Given the description of an element on the screen output the (x, y) to click on. 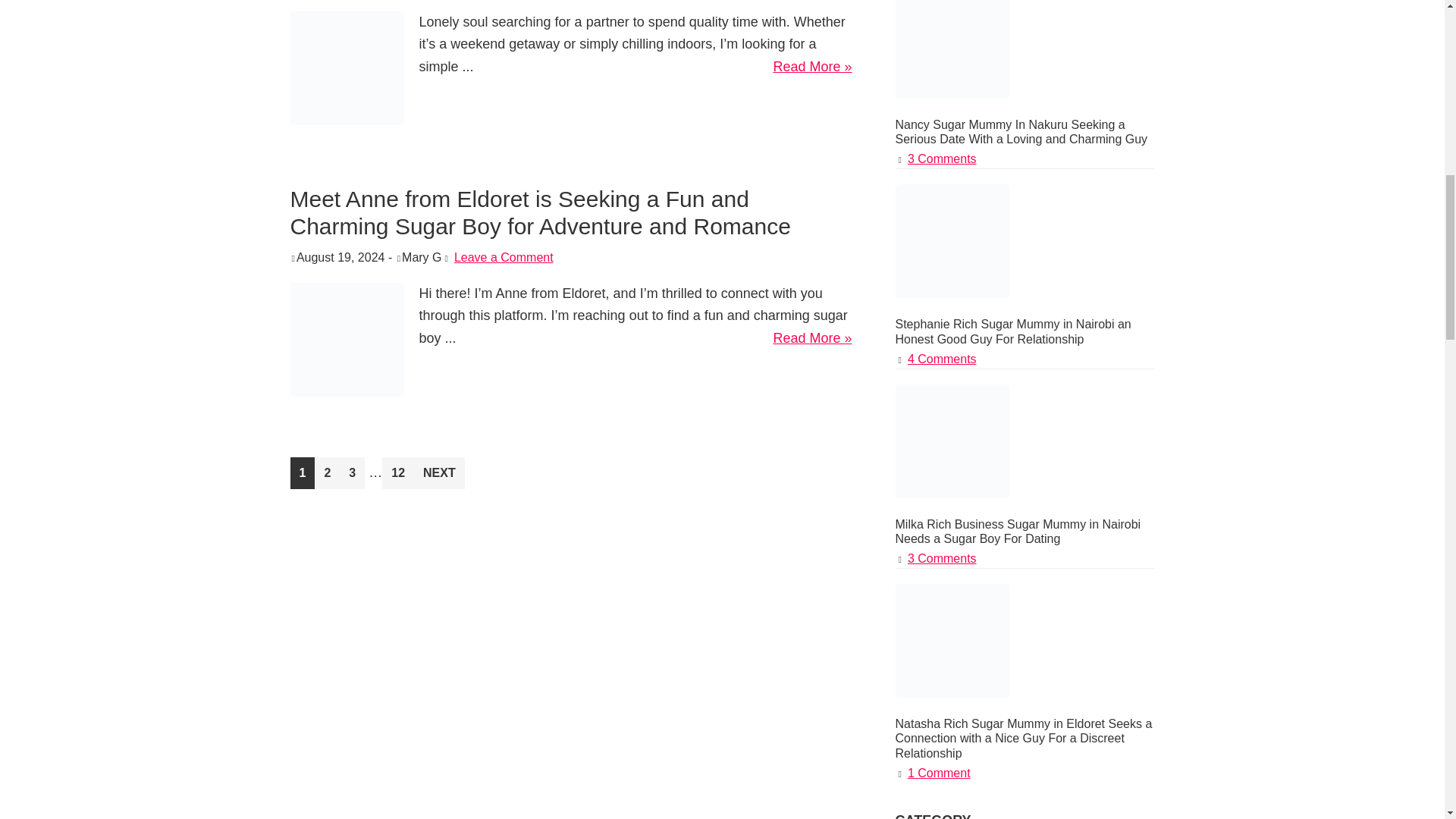
NEXT (438, 472)
Leave a Comment (397, 472)
